Given the description of an element on the screen output the (x, y) to click on. 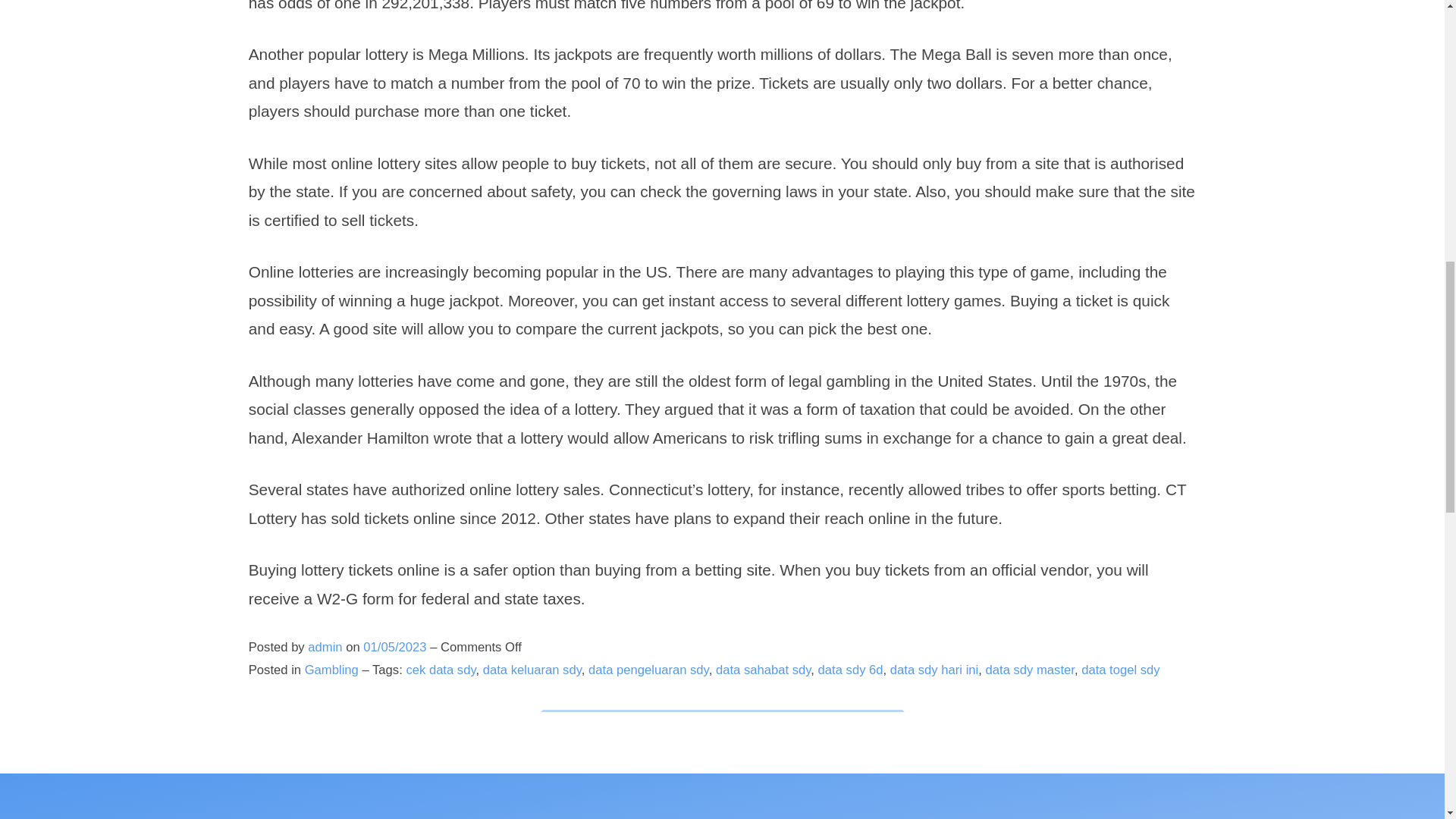
admin (324, 646)
cek data sdy (441, 669)
data keluaran sdy (531, 669)
data togel sdy (1120, 669)
data sdy master (1029, 669)
data sdy 6d (850, 669)
data sdy hari ini (933, 669)
data pengeluaran sdy (648, 669)
data sahabat sdy (763, 669)
Gambling (331, 669)
